Given the description of an element on the screen output the (x, y) to click on. 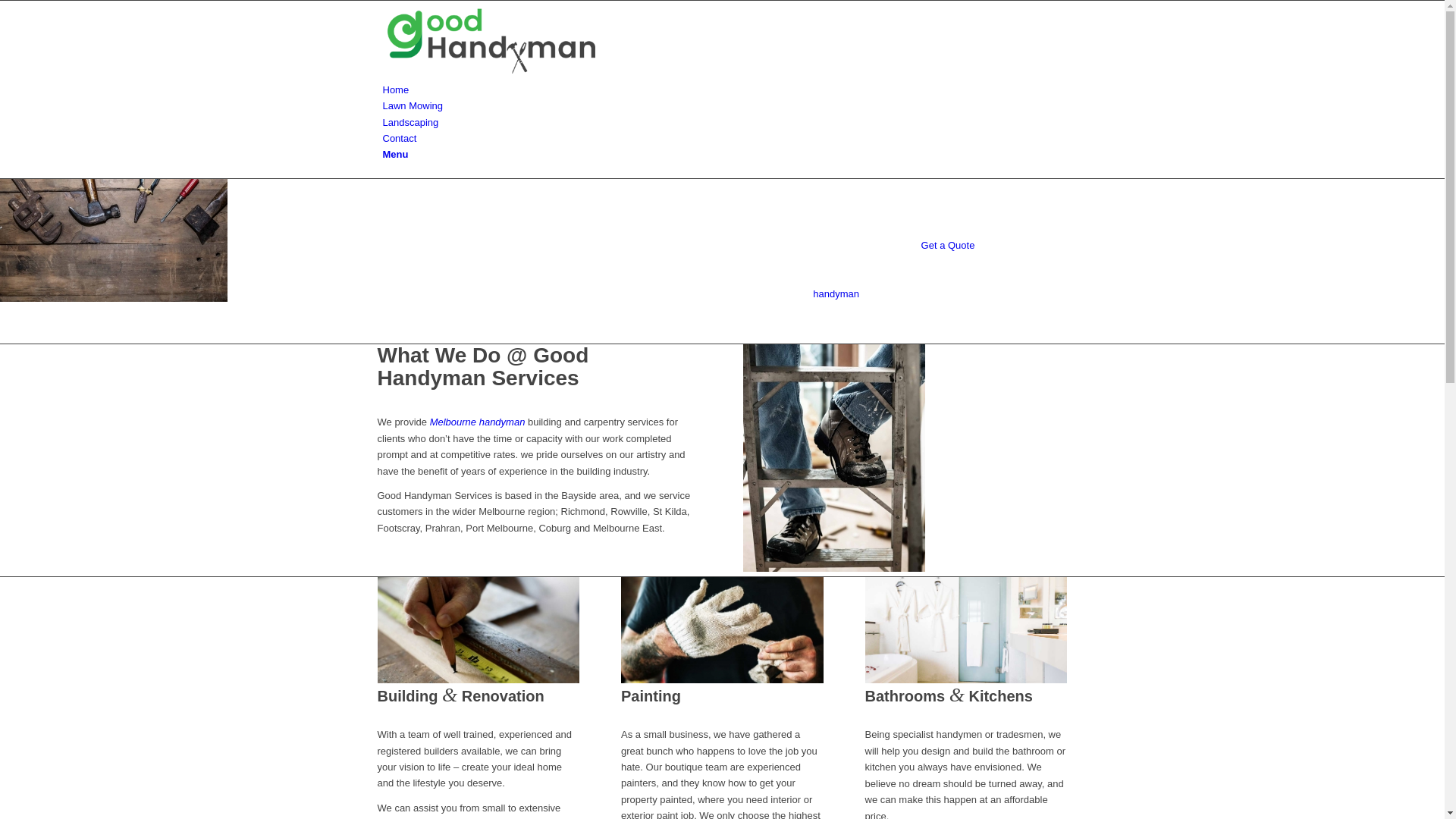
Contact Element type: text (399, 138)
Lawn Mowing Element type: text (412, 105)
Landscaping Element type: text (410, 122)
Melbourne handyman Element type: text (477, 421)
Menu Element type: text (394, 154)
Home-Repairs-and-Maintenance Element type: hover (722, 630)
Get a Quote Element type: text (948, 245)
Bathroom-Renovation-Services-Melbourne Element type: hover (966, 630)
Home-Renovation-Melbourne Element type: hover (478, 630)
Home Element type: text (395, 89)
Handyman Melbourne Element type: hover (834, 457)
handyman Element type: text (835, 293)
